Given the description of an element on the screen output the (x, y) to click on. 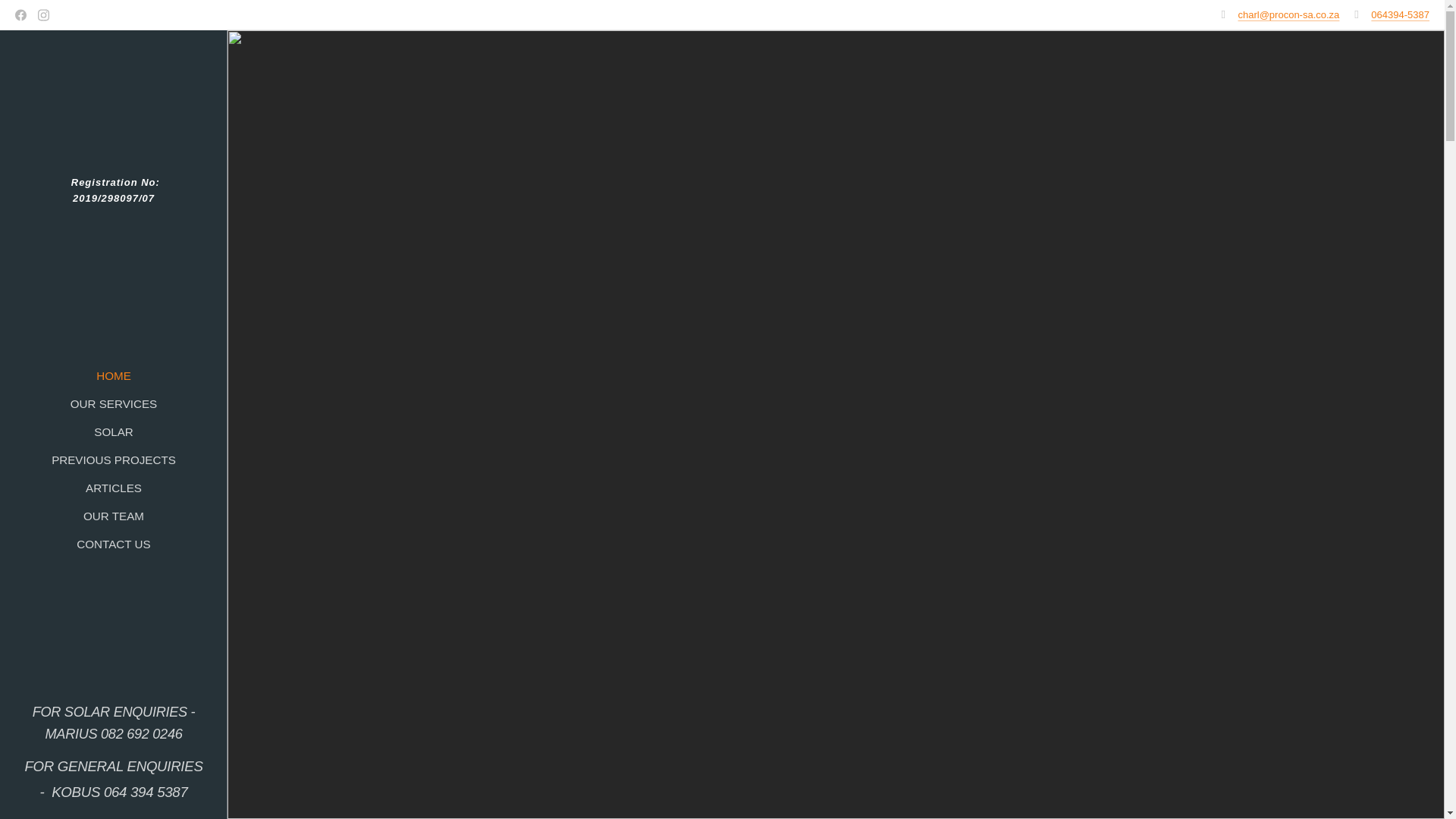
OUR SERVICES (113, 403)
SOLAR (113, 431)
064394-5387 (1400, 14)
PREVIOUS PROJECTS (113, 459)
CONTACT US (113, 543)
OUR TEAM (113, 515)
HOME (113, 375)
ARTICLES (113, 487)
